Given the description of an element on the screen output the (x, y) to click on. 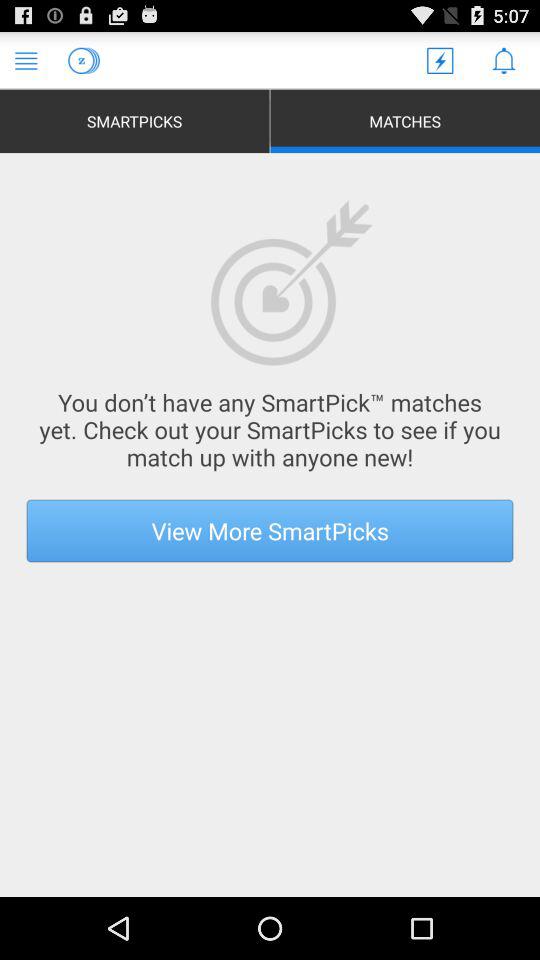
read notifications (503, 59)
